Given the description of an element on the screen output the (x, y) to click on. 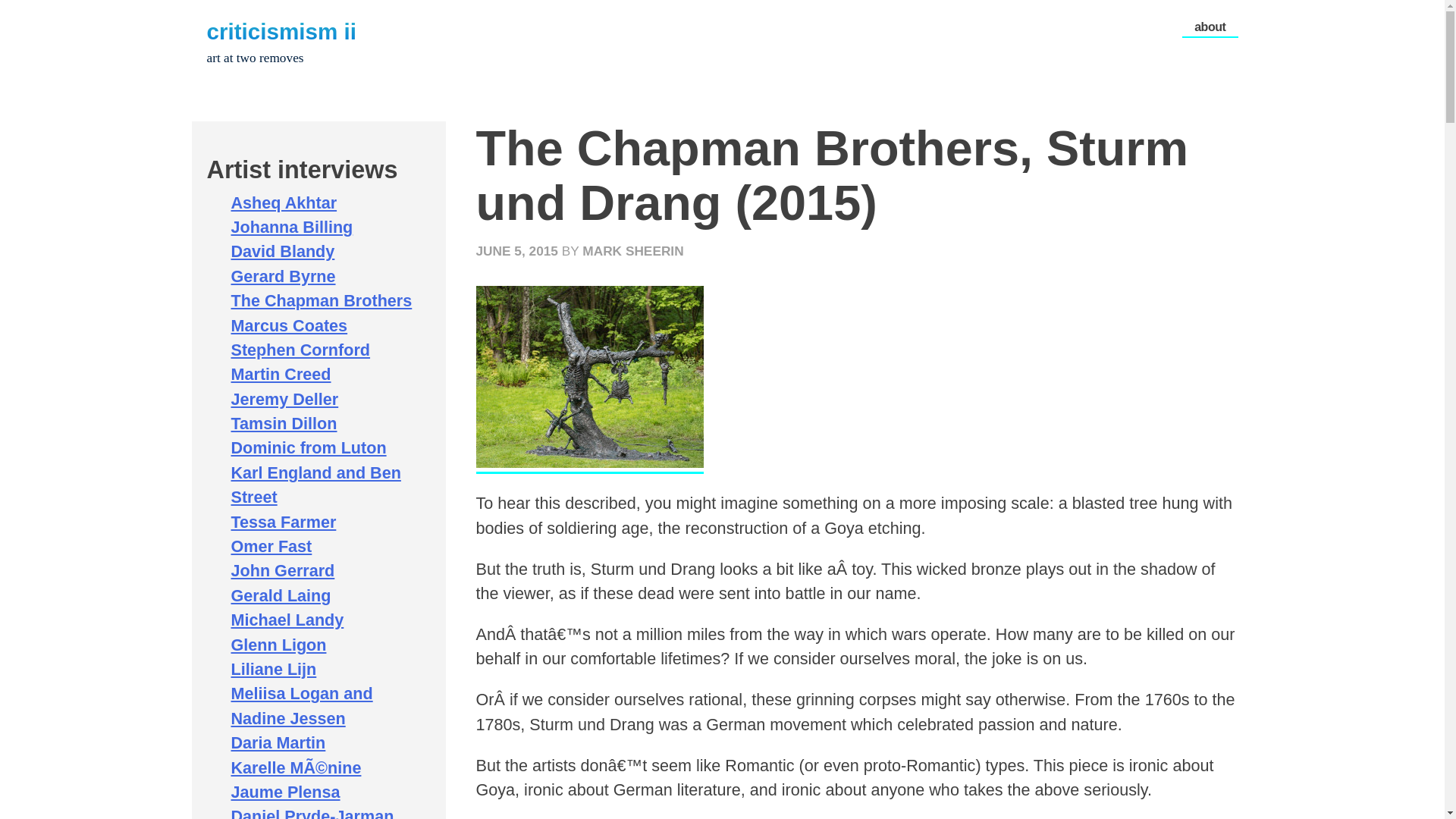
Tessa Farmer (283, 521)
about (1209, 22)
Asheq Akhtar (283, 202)
criticismism ii (280, 31)
Stephen Cornford (299, 349)
The Chapman Brothers (321, 300)
Johanna Billing (291, 226)
JUNE 5, 2015 (516, 250)
David Blandy (282, 251)
Gerard Byrne (282, 275)
